Given the description of an element on the screen output the (x, y) to click on. 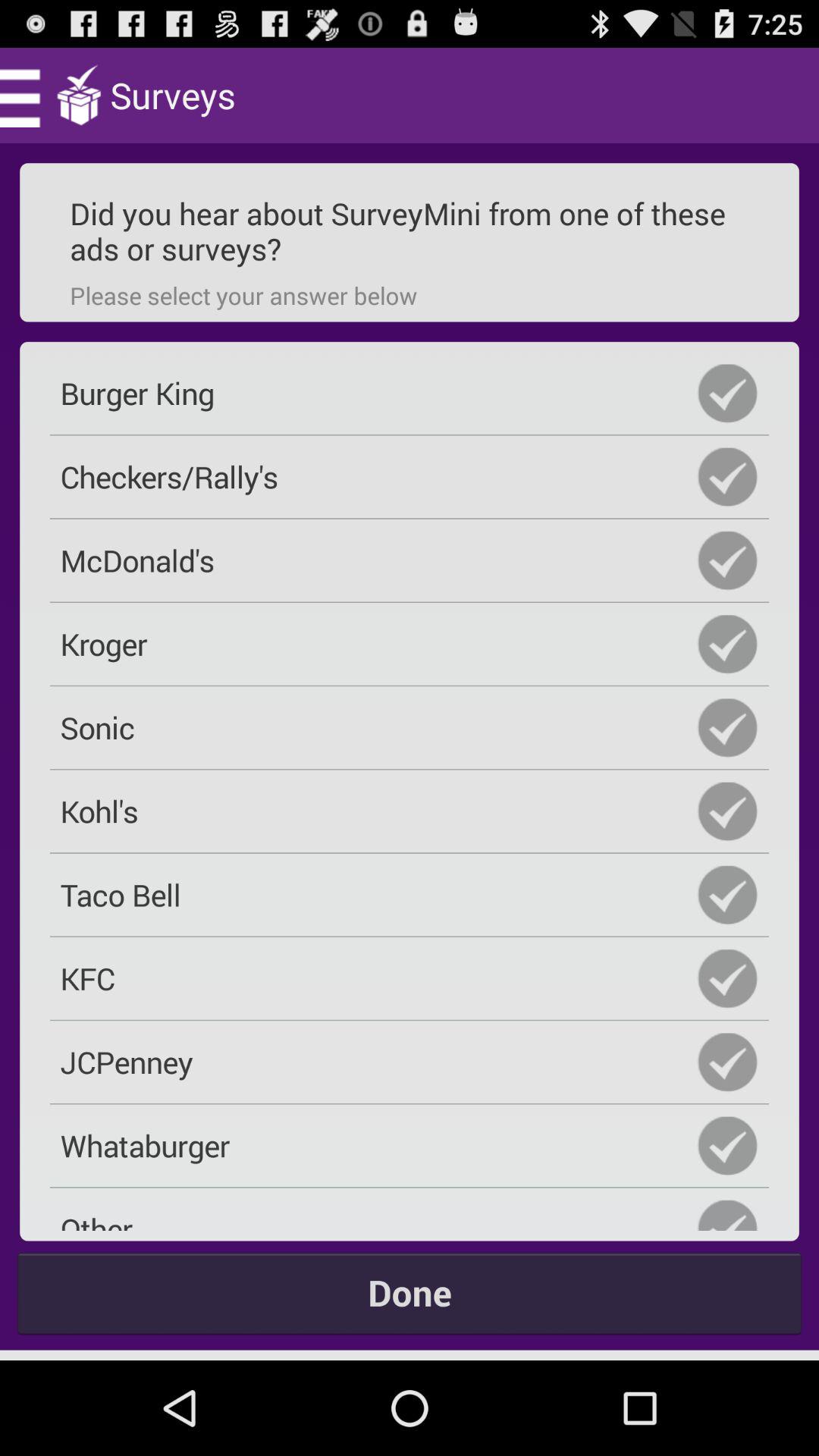
turn on the item above kfc (409, 894)
